Given the description of an element on the screen output the (x, y) to click on. 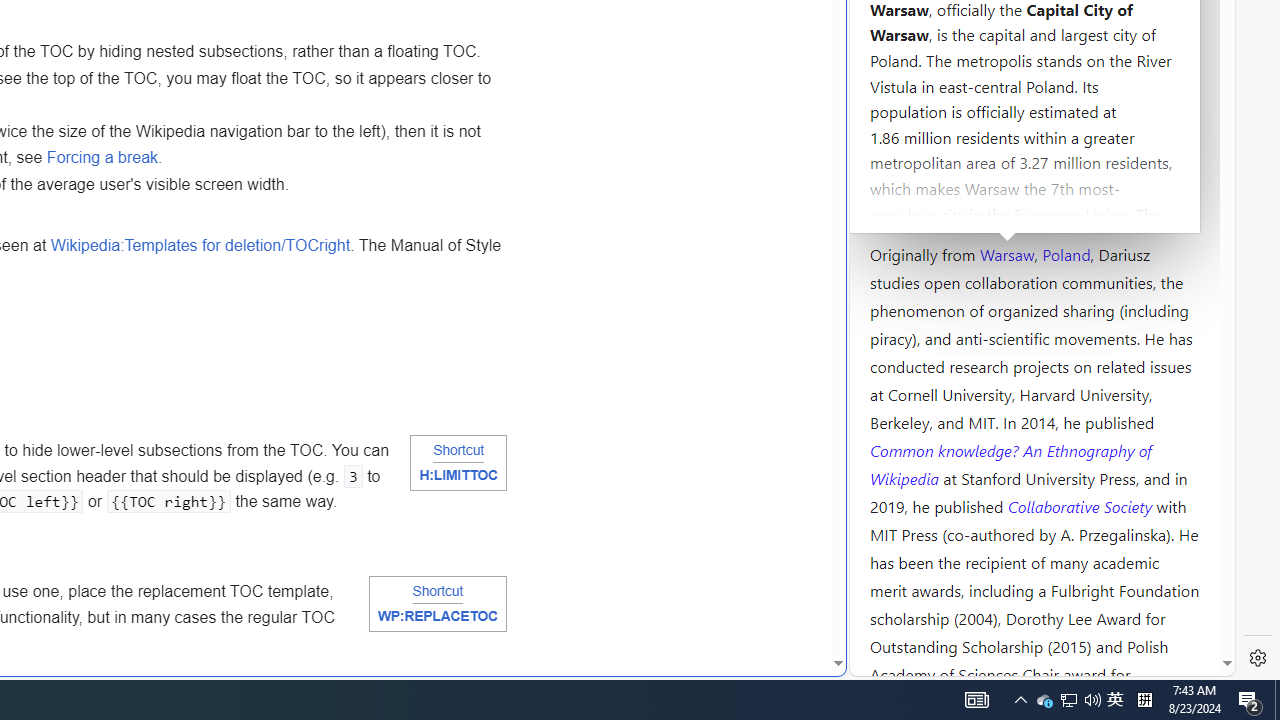
Warsaw (1006, 253)
WP:REPLACETOC (437, 617)
Forcing a break (102, 157)
google_privacy_policy_zh-CN.pdf (687, 482)
Actions for this site (1129, 306)
Harvard University (934, 205)
